Given the description of an element on the screen output the (x, y) to click on. 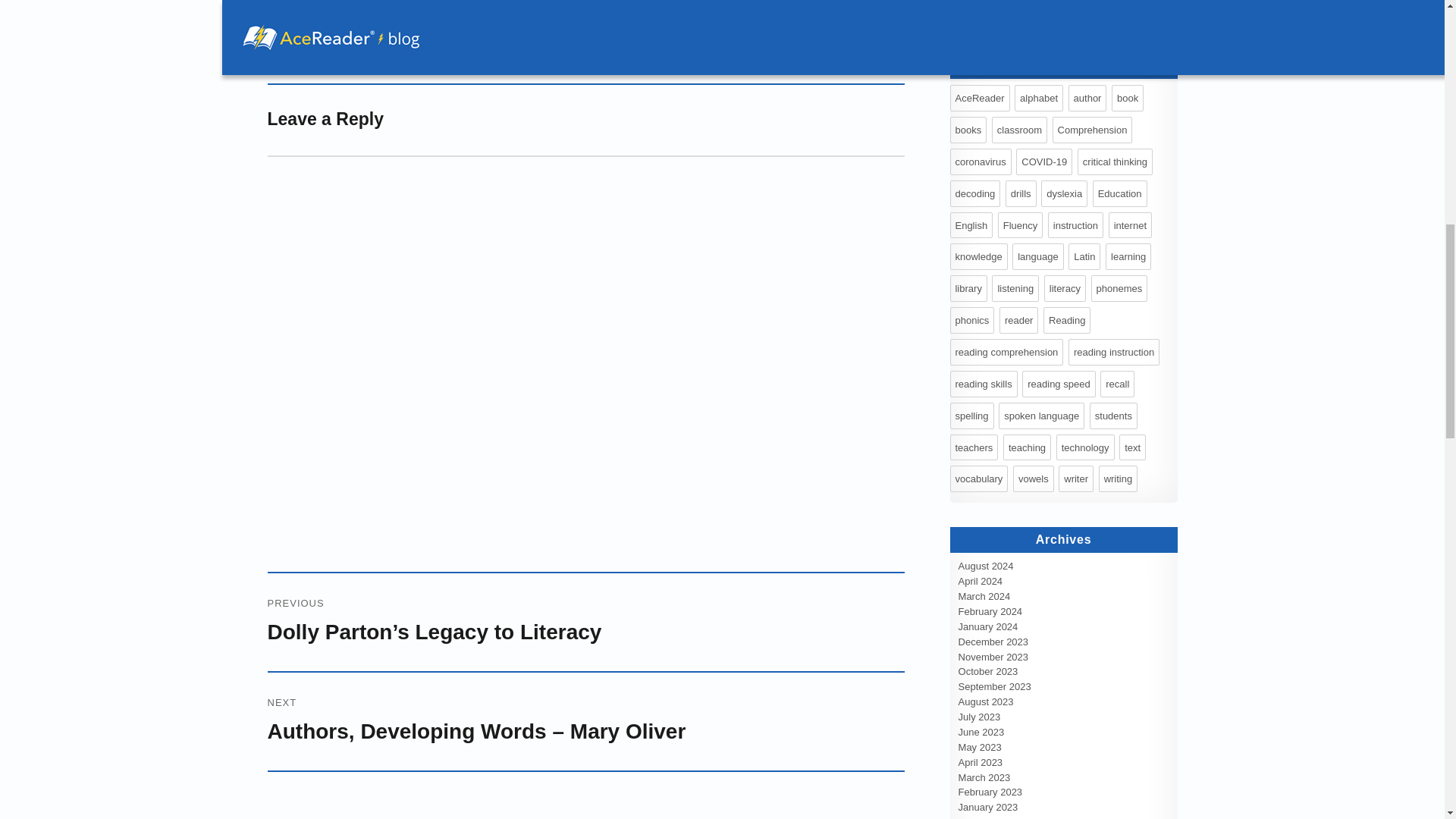
language (364, 29)
14 topics (1038, 98)
alphabet (320, 29)
real-time change (682, 29)
Posts by AceReader Blogger (363, 14)
46 topics (979, 98)
10 topics (1127, 98)
AceReader Blogger (363, 14)
20 topics (1018, 130)
language development (440, 29)
